Given the description of an element on the screen output the (x, y) to click on. 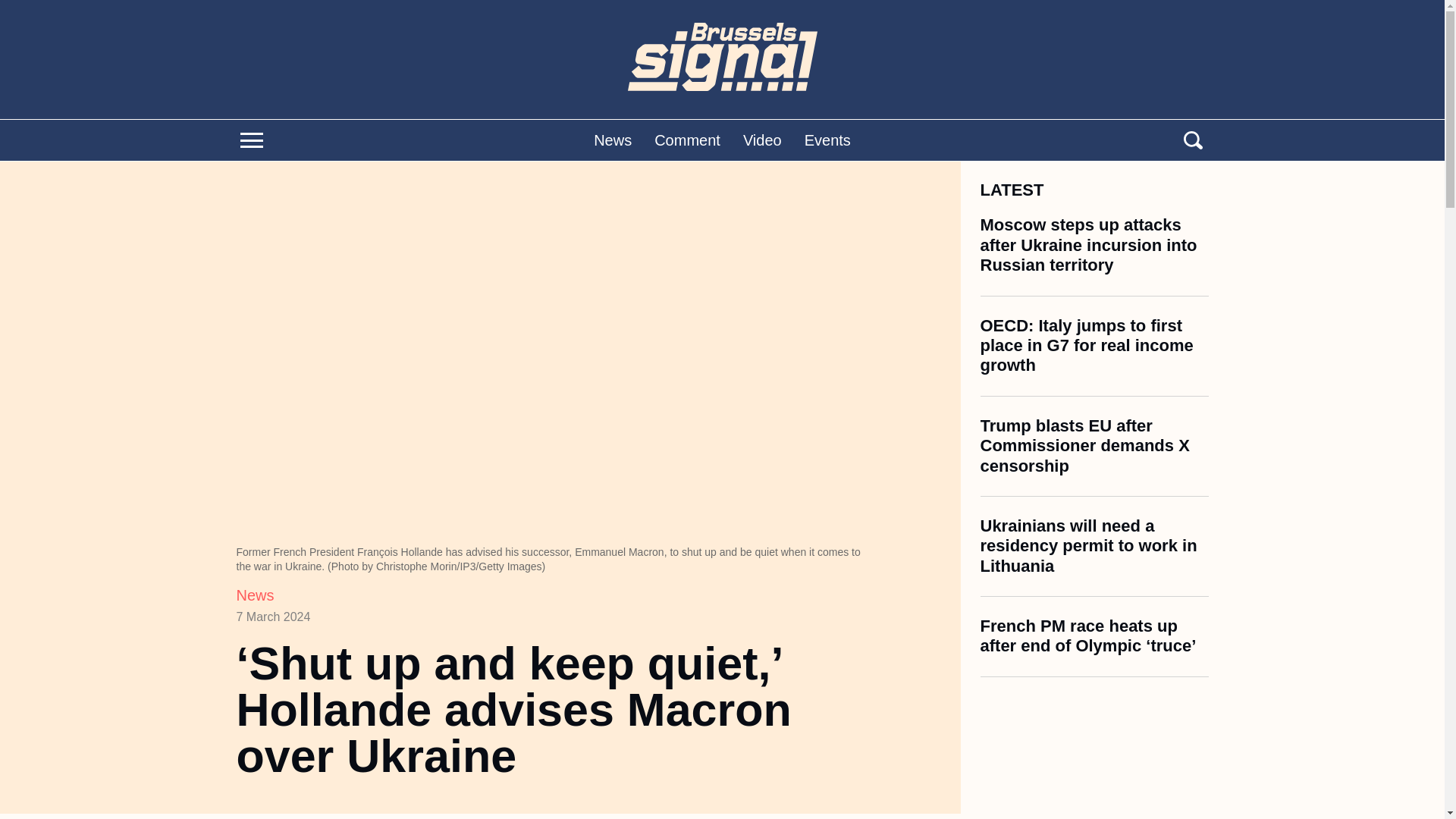
News (612, 140)
Comment (686, 140)
News (255, 595)
Events (827, 140)
Video (761, 140)
